Given the description of an element on the screen output the (x, y) to click on. 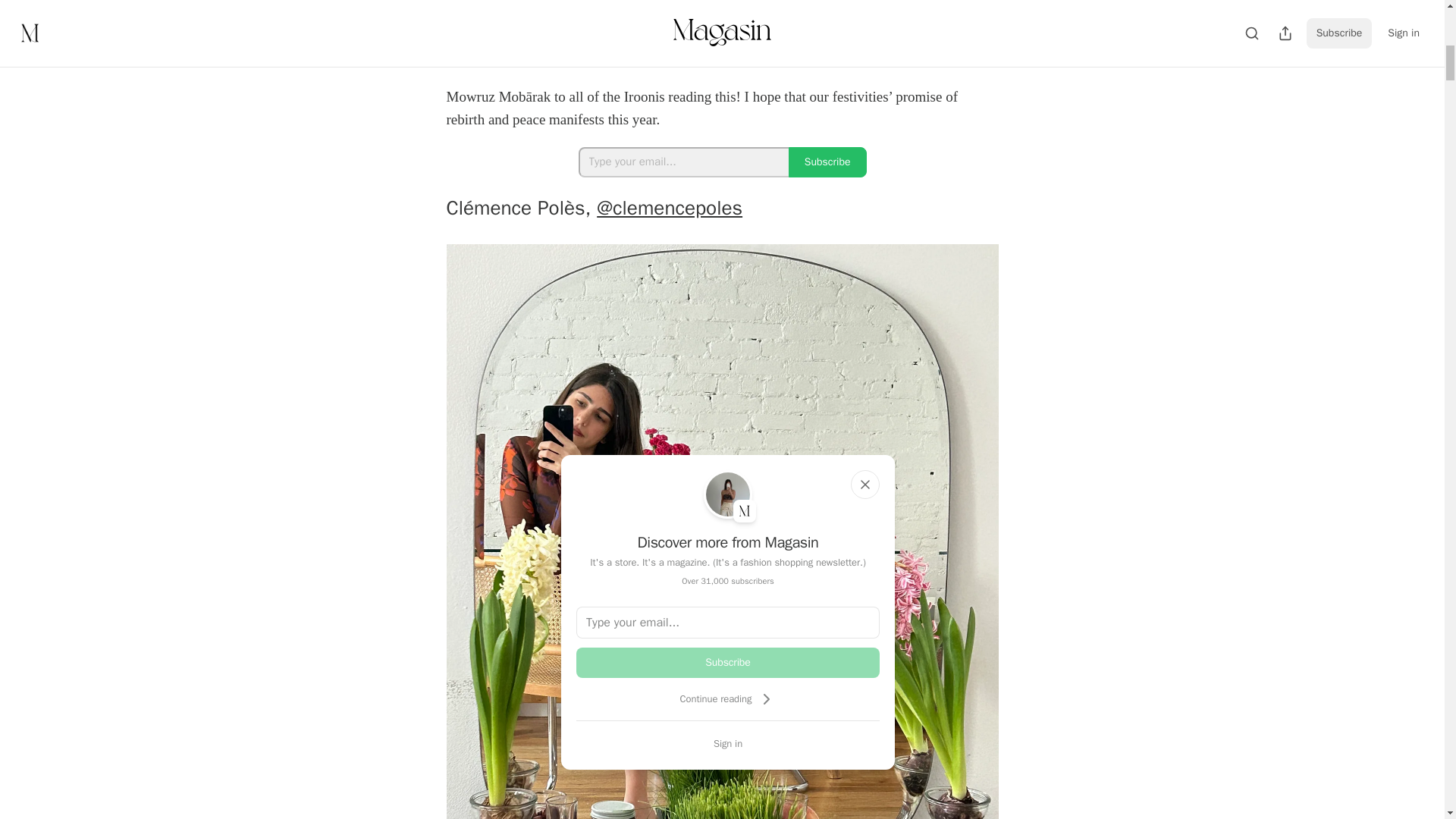
Subscribe (727, 662)
Sign in (727, 743)
Subscribe (827, 162)
